Given the description of an element on the screen output the (x, y) to click on. 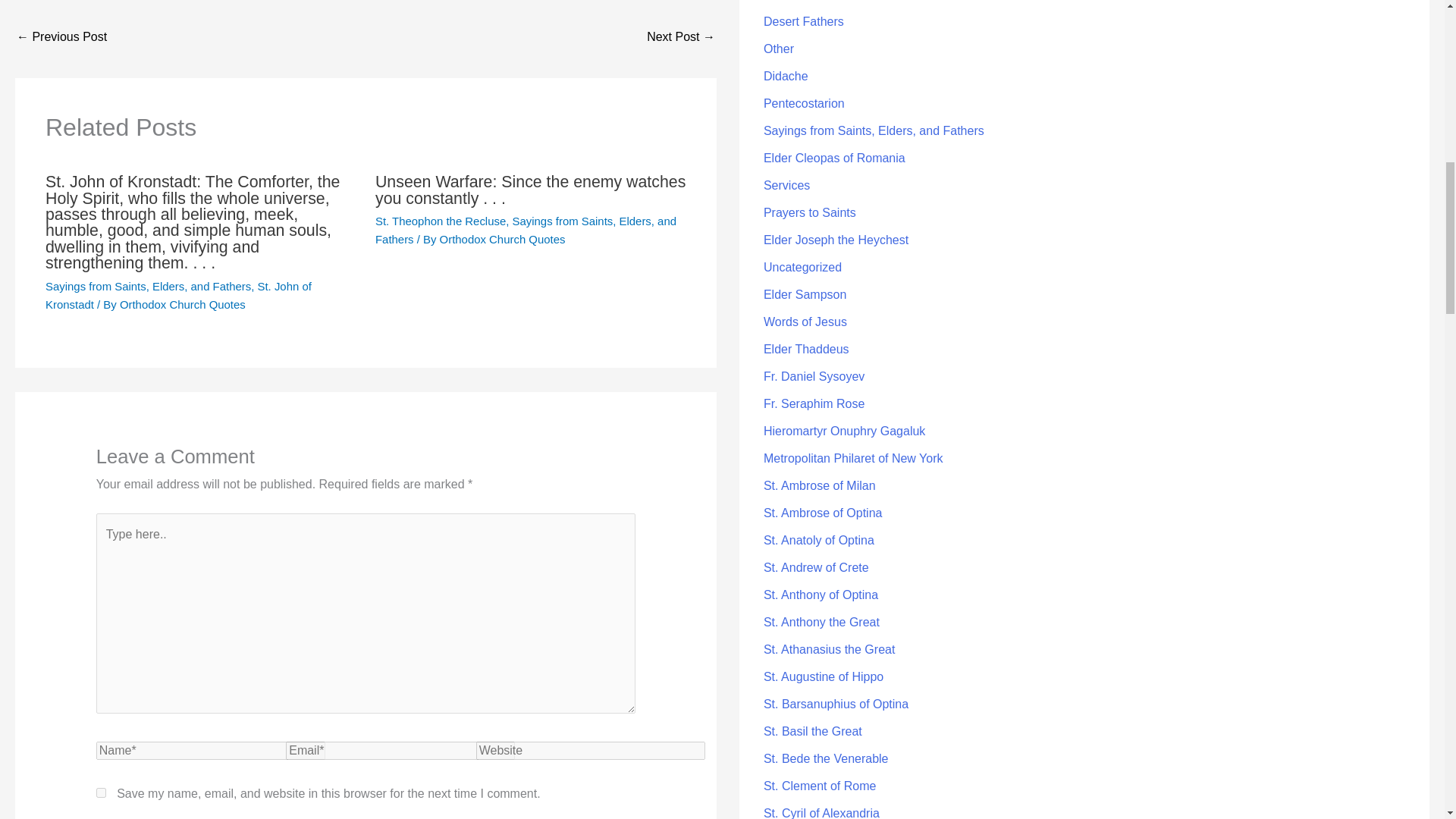
View all posts by Orthodox Church Quotes (182, 304)
yes (101, 792)
Canon of St. Andrew: Thou art the good Shepherd . . . (61, 38)
View all posts by Orthodox Church Quotes (502, 238)
